Given the description of an element on the screen output the (x, y) to click on. 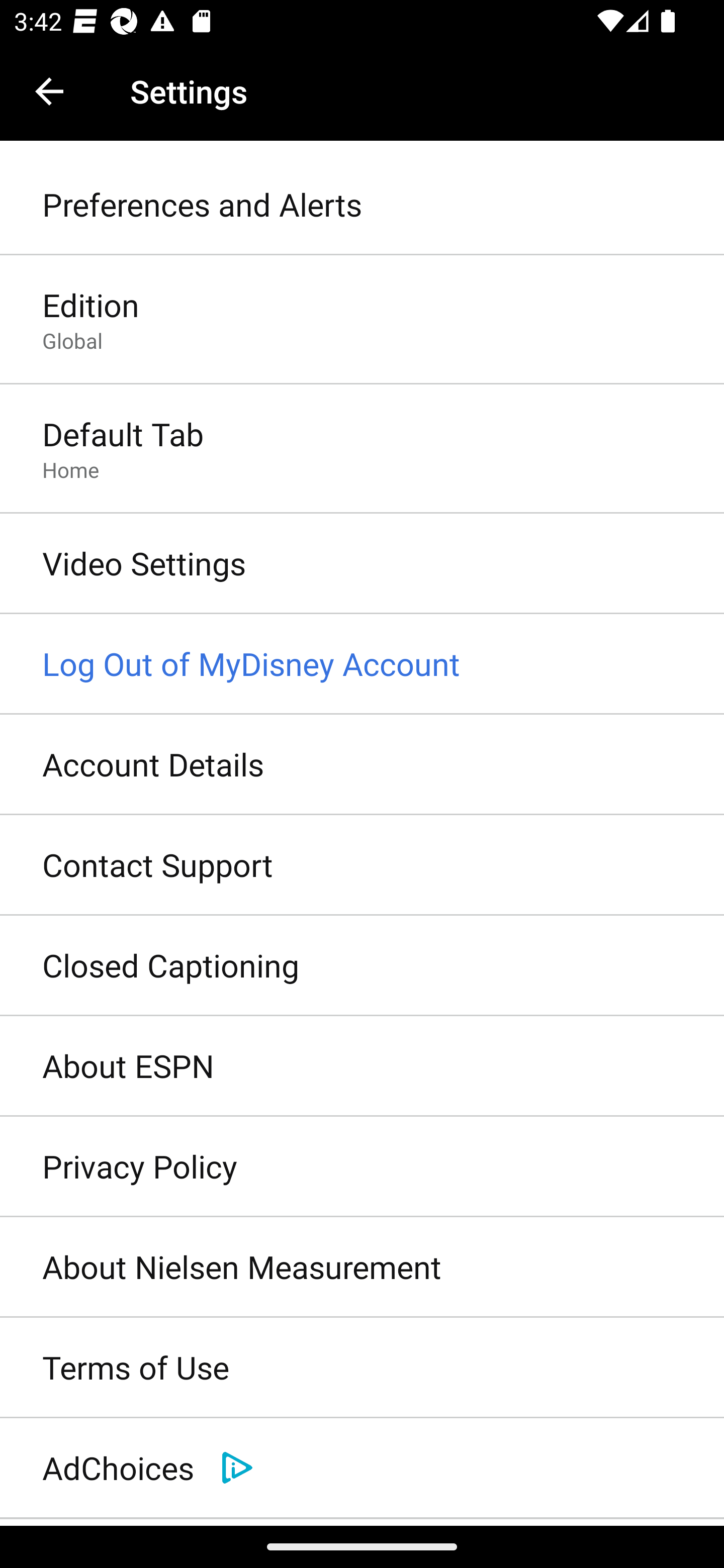
Navigate up (49, 91)
Preferences and Alerts (362, 205)
Edition Global (362, 320)
Default Tab Home (362, 449)
Video Settings (362, 564)
Log Out of MyDisney Account (362, 664)
Account Details (362, 765)
Contact Support (362, 865)
Closed Captioning (362, 965)
About ESPN (362, 1066)
Privacy Policy (362, 1167)
About Nielsen Measurement (362, 1267)
Terms of Use (362, 1368)
AdChoices (362, 1468)
